Given the description of an element on the screen output the (x, y) to click on. 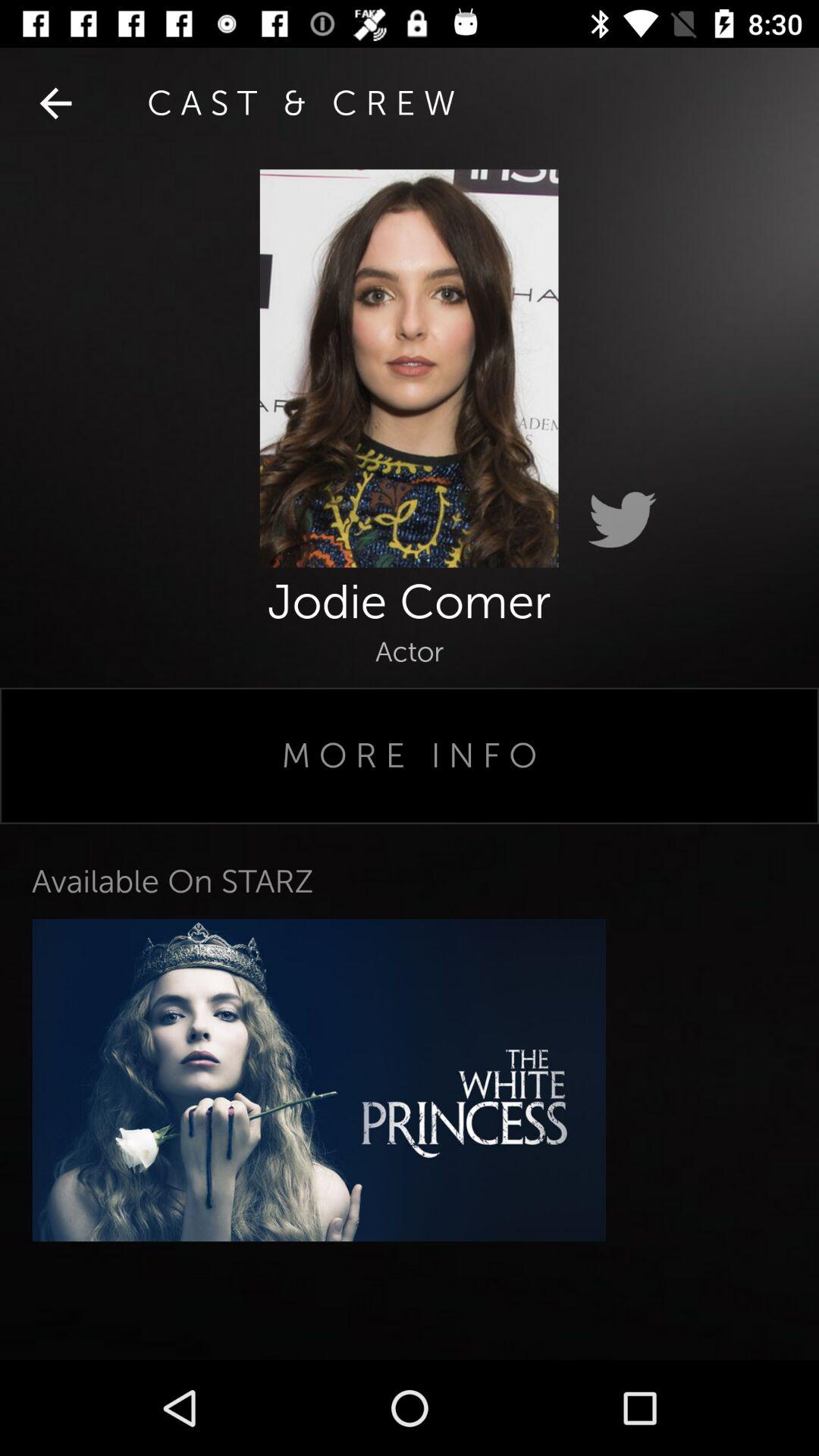
select the icon at the top left corner (55, 103)
